Given the description of an element on the screen output the (x, y) to click on. 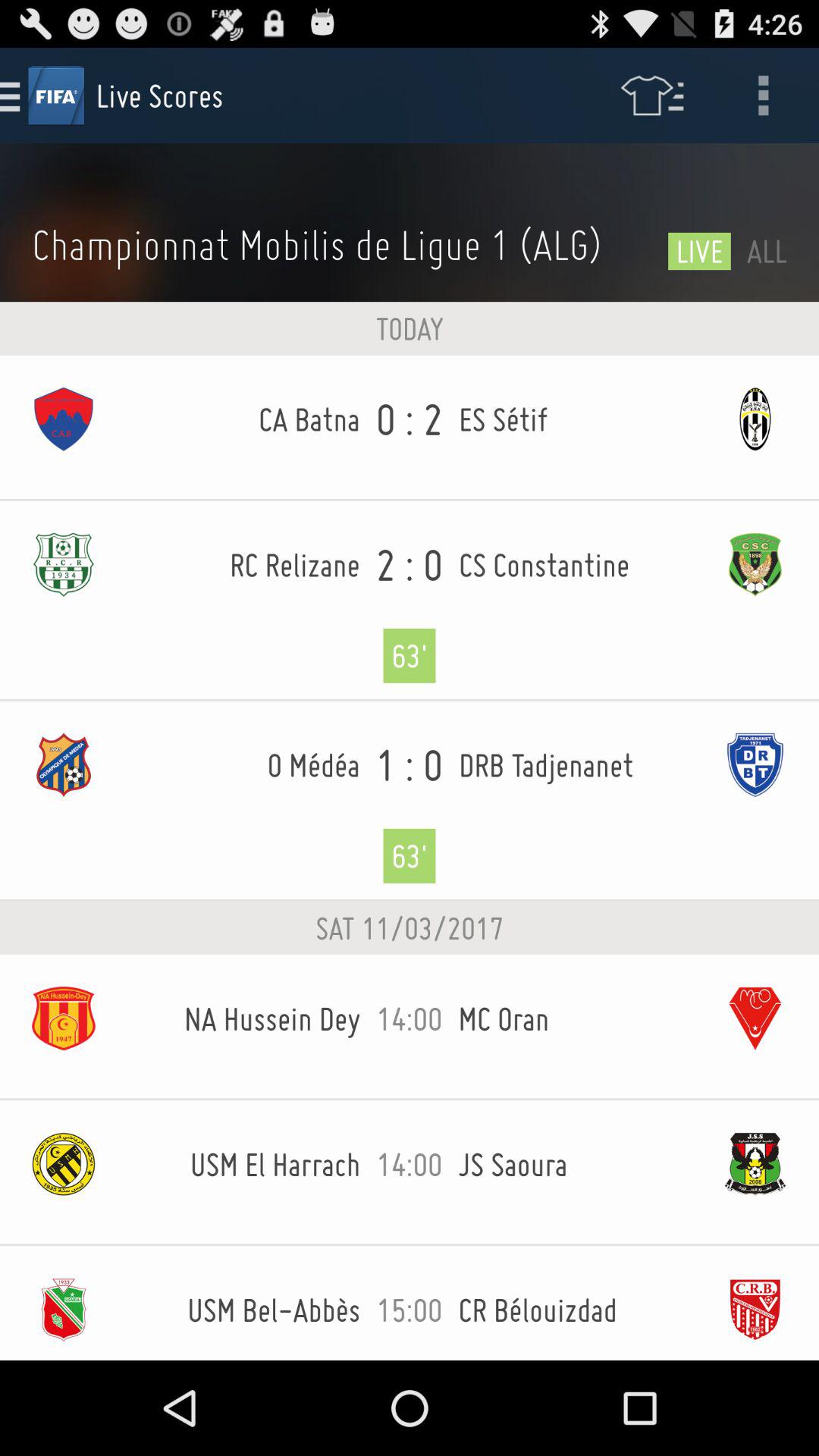
jump until the sat 11 03 (409, 927)
